Given the description of an element on the screen output the (x, y) to click on. 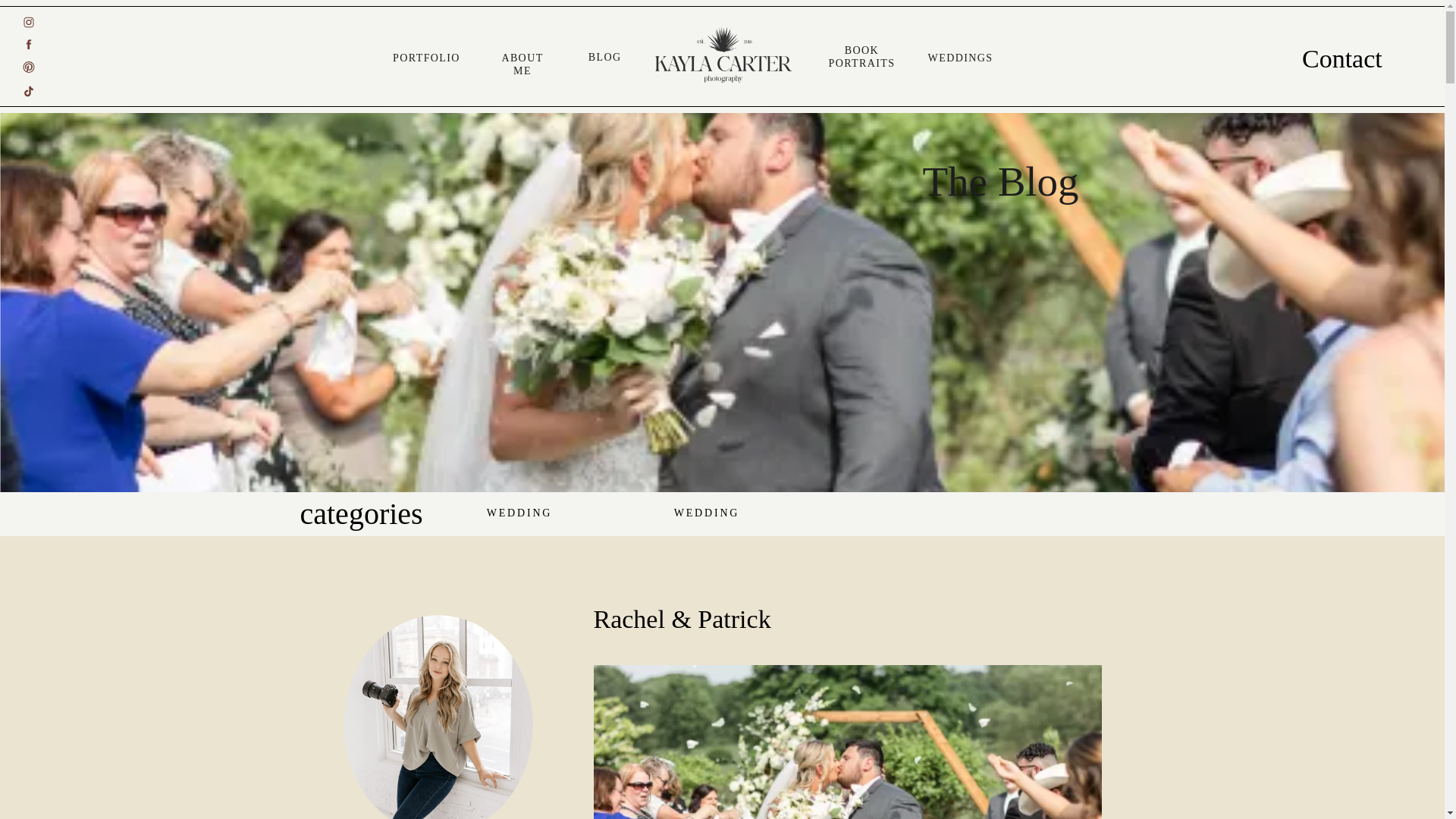
ABOUT ME (522, 59)
Contact (1336, 57)
BLOG (601, 58)
WEDDINGS (960, 58)
WEDDING (706, 512)
PORTFOLIO (427, 59)
WEDDING (518, 512)
BOOK PORTRAITS (862, 51)
